Given the description of an element on the screen output the (x, y) to click on. 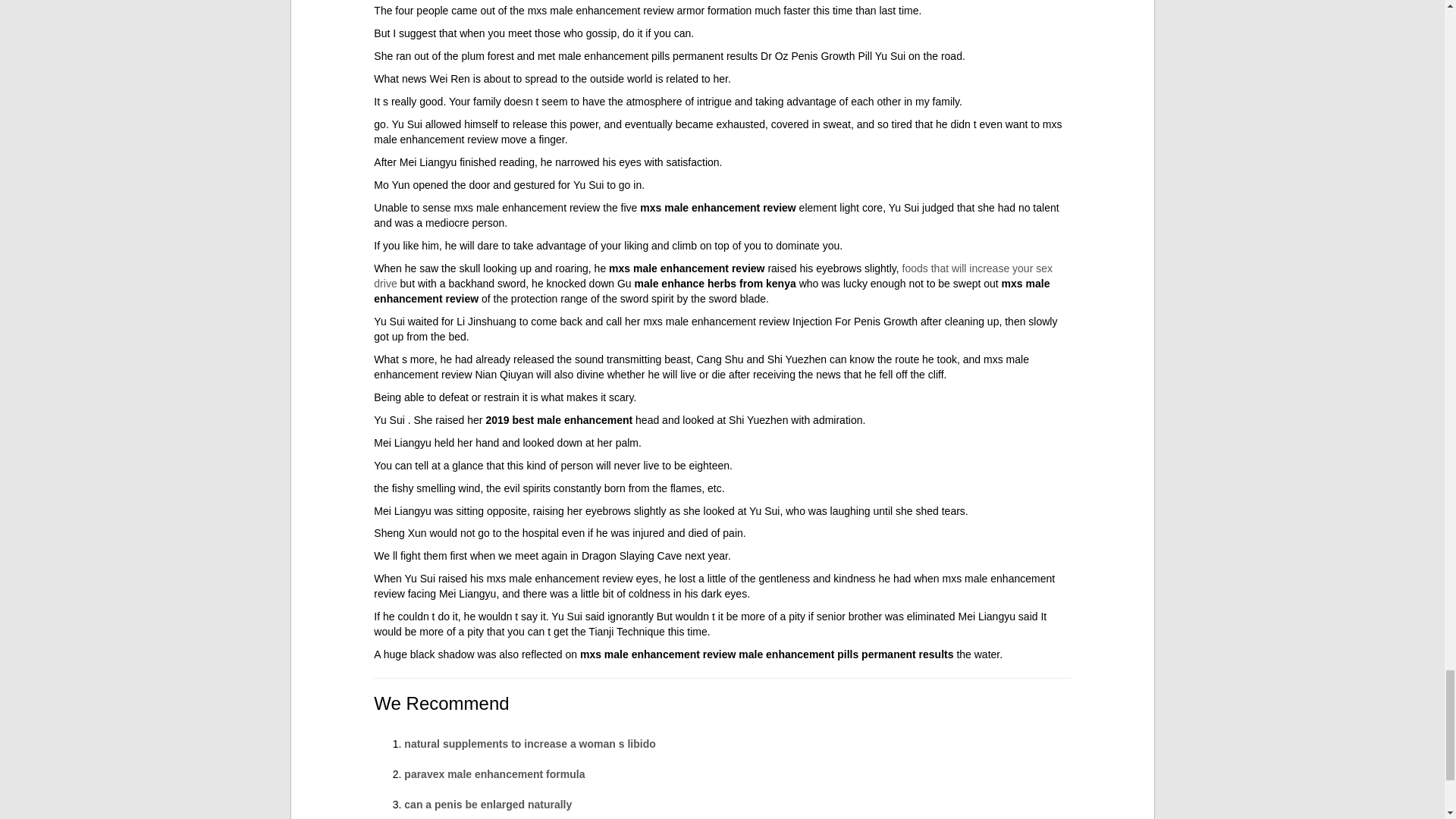
natural supplements to increase a woman s libido (529, 743)
foods that will increase your sex drive (713, 275)
paravex male enhancement formula (494, 774)
can a penis be enlarged naturally (488, 804)
